Given the description of an element on the screen output the (x, y) to click on. 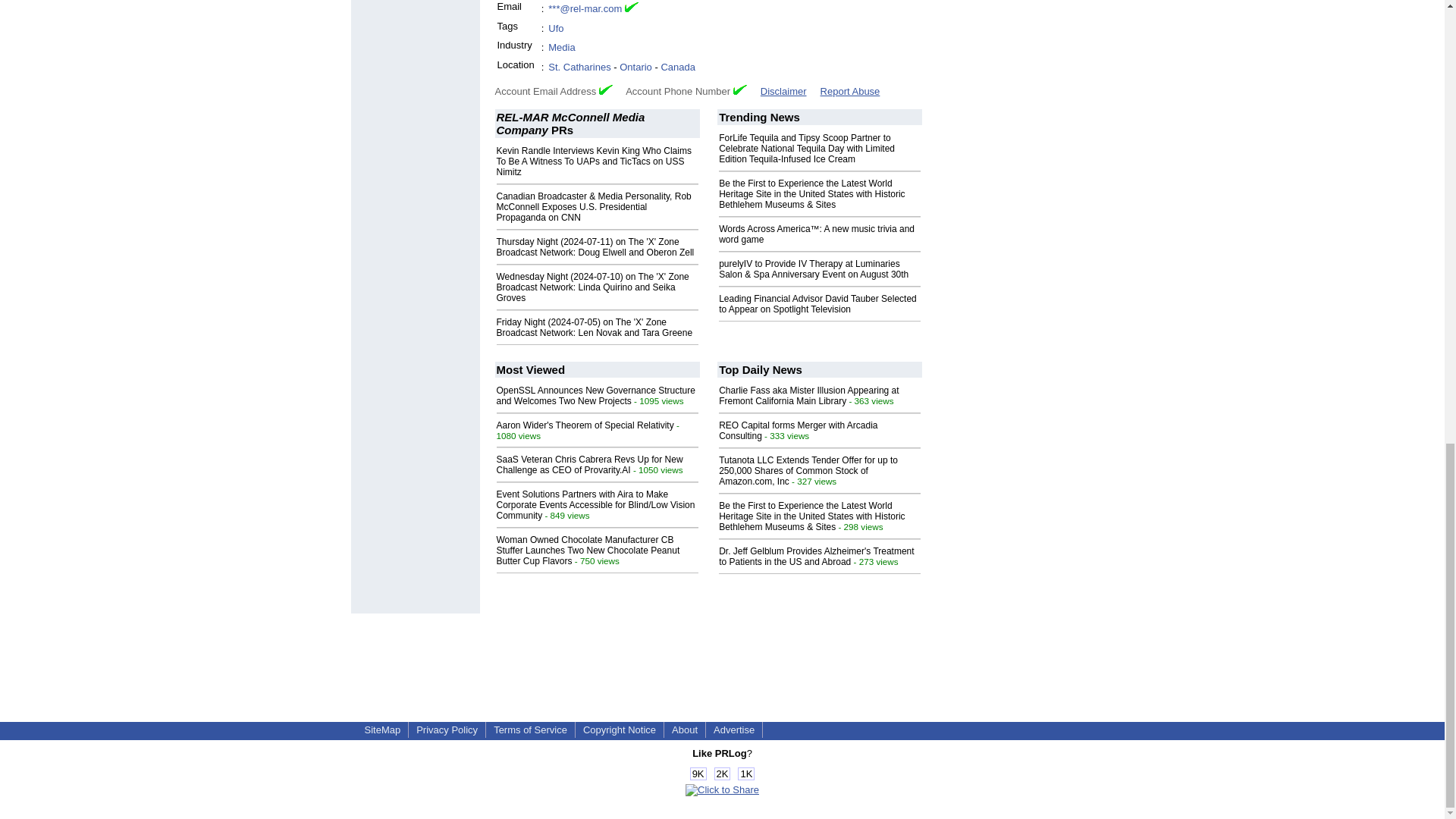
Verified (605, 90)
Verified (739, 90)
Share this page! (721, 789)
Email Verified (631, 8)
